Given the description of an element on the screen output the (x, y) to click on. 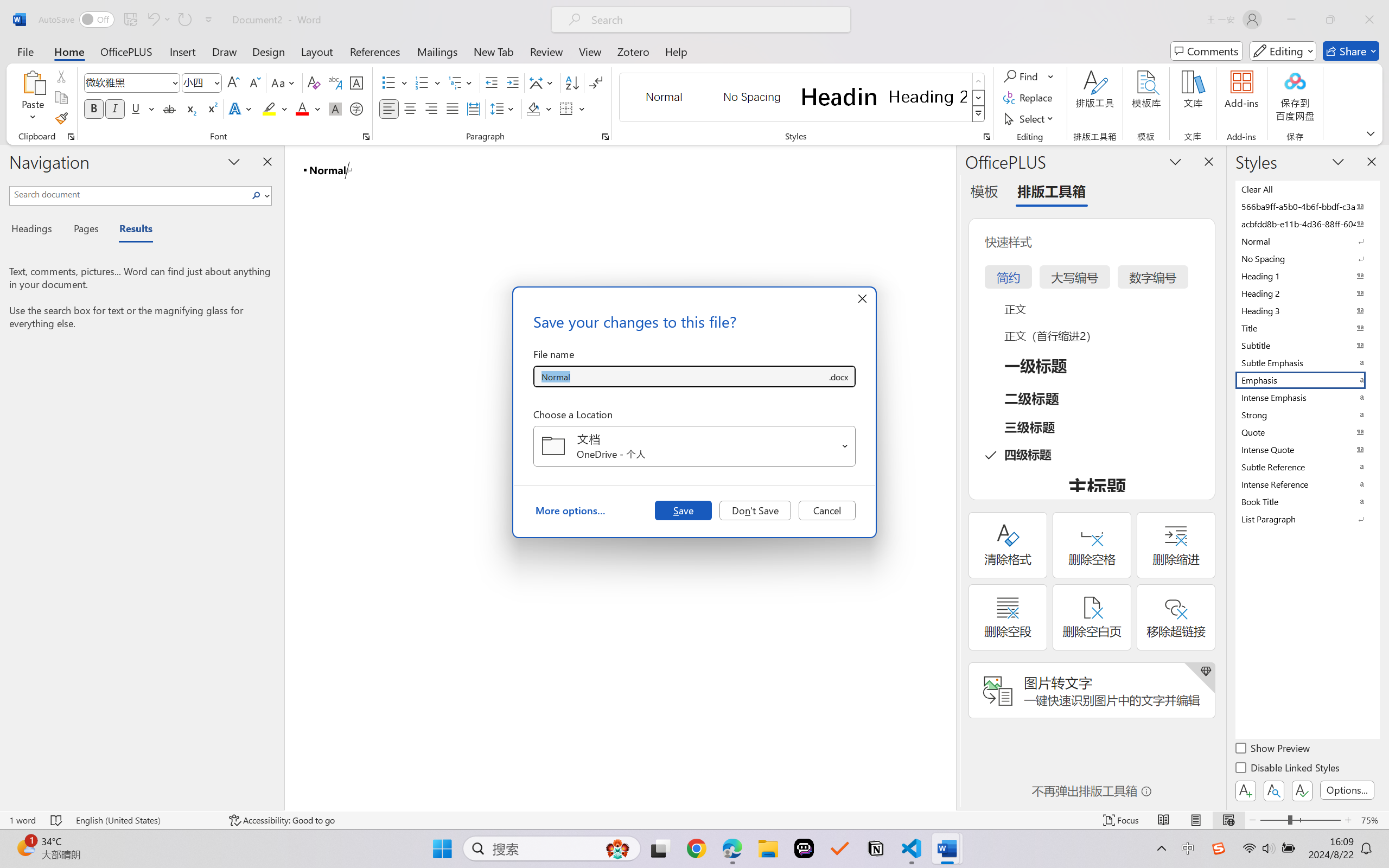
Multilevel List (461, 82)
Font (126, 82)
Borders (571, 108)
Find (1022, 75)
No Spacing (1306, 258)
Subtitle (1306, 345)
Emphasis (1306, 379)
Replace... (1029, 97)
Phonetic Guide... (334, 82)
